Given the description of an element on the screen output the (x, y) to click on. 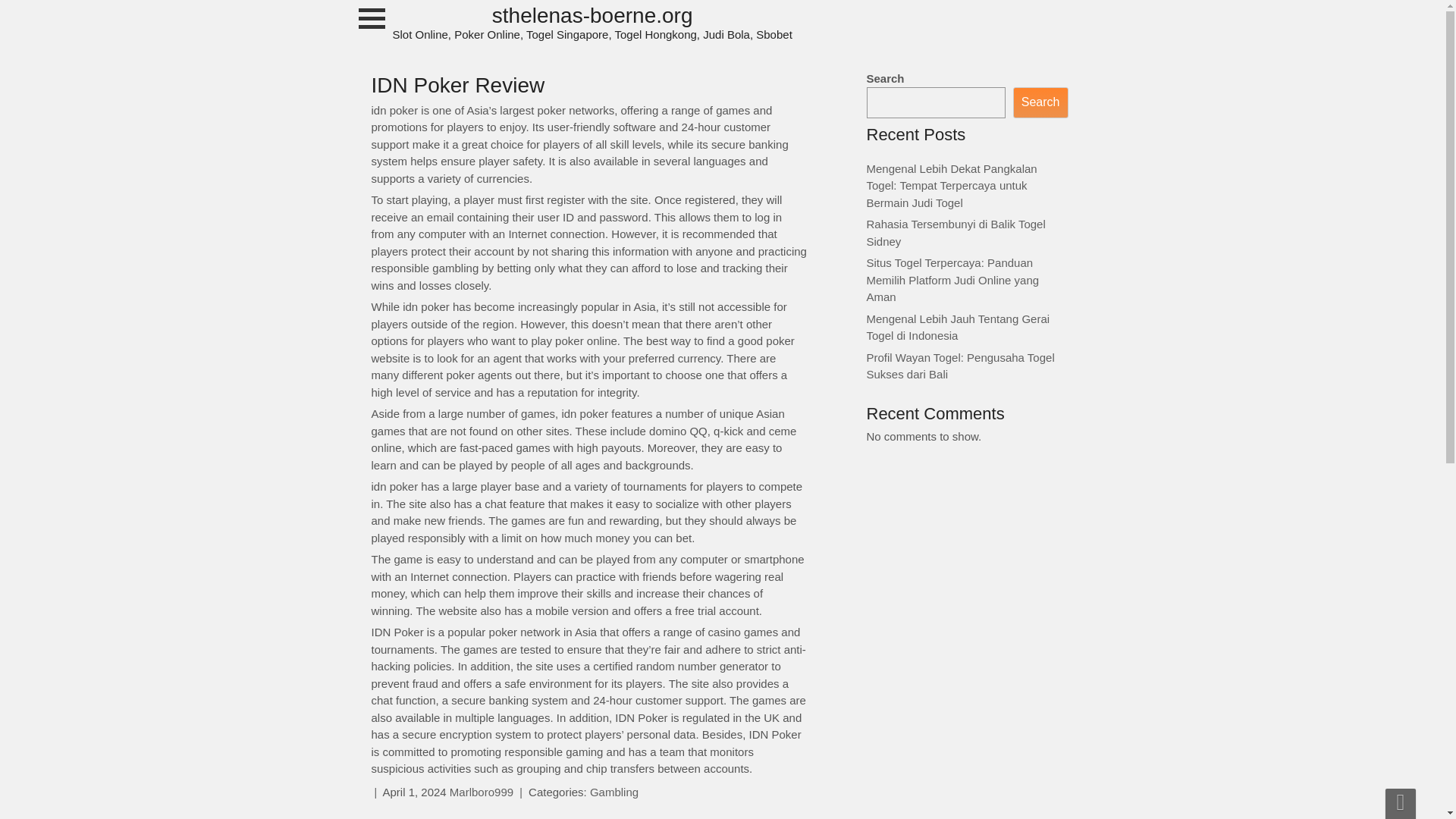
Search (1040, 101)
Rahasia Tersembunyi di Balik Togel Sidney (955, 232)
Marlboro999 (481, 791)
sthelenas-boerne.org (592, 22)
Mengenal Lebih Jauh Tentang Gerai Togel di Indonesia (957, 327)
Profil Wayan Togel: Pengusaha Togel Sukses dari Bali (960, 365)
Posts by Marlboro999 (481, 791)
Gambling (614, 791)
